Given the description of an element on the screen output the (x, y) to click on. 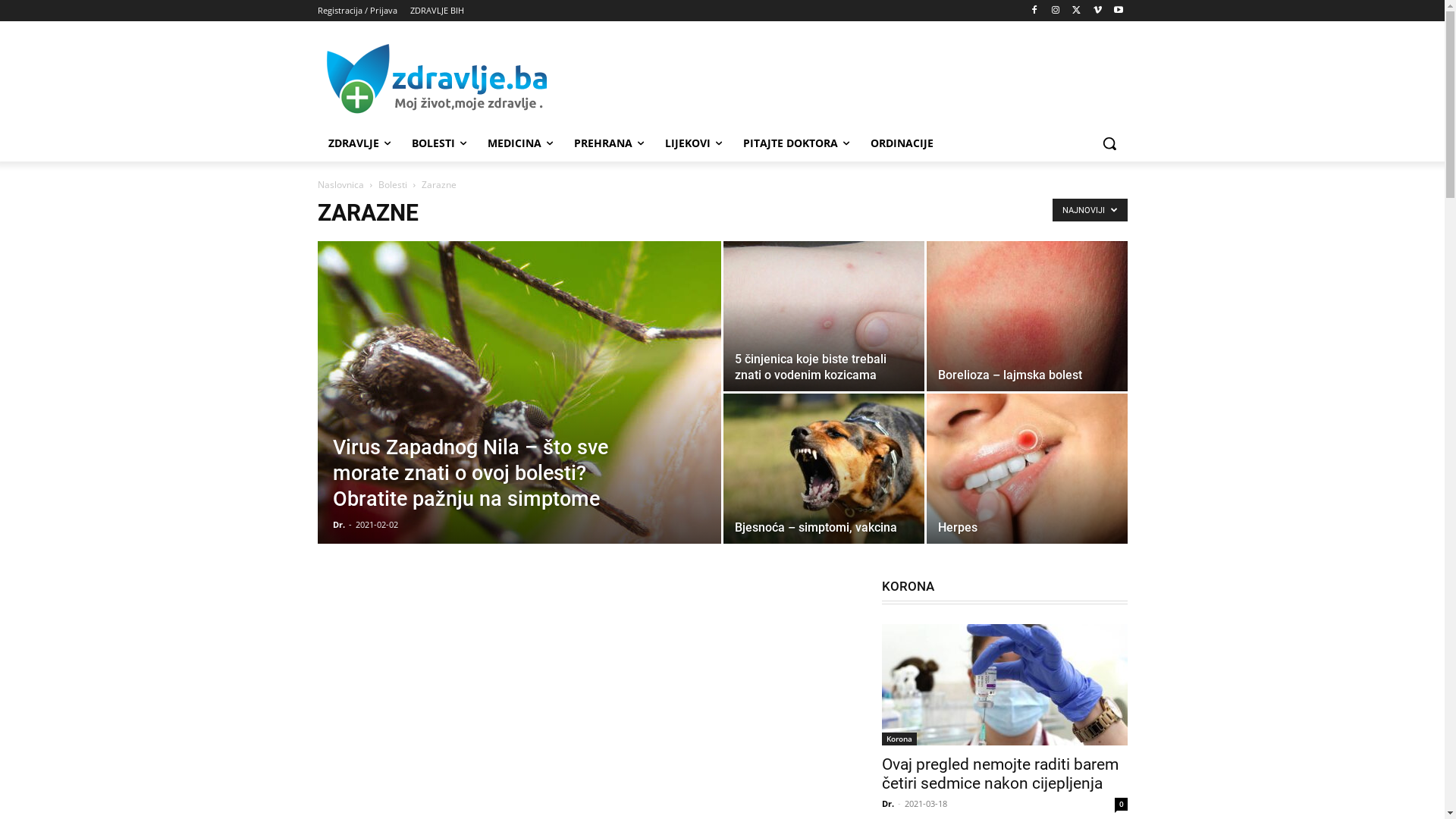
Bolesti Element type: text (391, 184)
0 Element type: text (1120, 803)
BOLESTI Element type: text (438, 143)
PITAJTE DOKTORA Element type: text (795, 143)
Registracija / Prijava Element type: text (356, 10)
Dr. Element type: text (338, 524)
Vimeo Element type: hover (1097, 9)
Korona Element type: text (898, 738)
ZDRAVLJE Element type: text (358, 143)
Advertisement Element type: hover (836, 77)
Naslovnica Element type: text (339, 184)
ORDINACIJE Element type: text (901, 143)
Facebook Element type: hover (1034, 9)
PREHRANA Element type: text (607, 143)
Herpes Element type: hover (1026, 468)
Herpes Element type: text (956, 527)
LIJEKOVI Element type: text (692, 143)
Dr. Element type: text (887, 803)
MEDICINA Element type: text (519, 143)
Twitter Element type: hover (1076, 9)
Instagram Element type: hover (1054, 9)
Youtube Element type: hover (1118, 9)
ZDRAVLJE BIH Element type: text (436, 10)
